Given the description of an element on the screen output the (x, y) to click on. 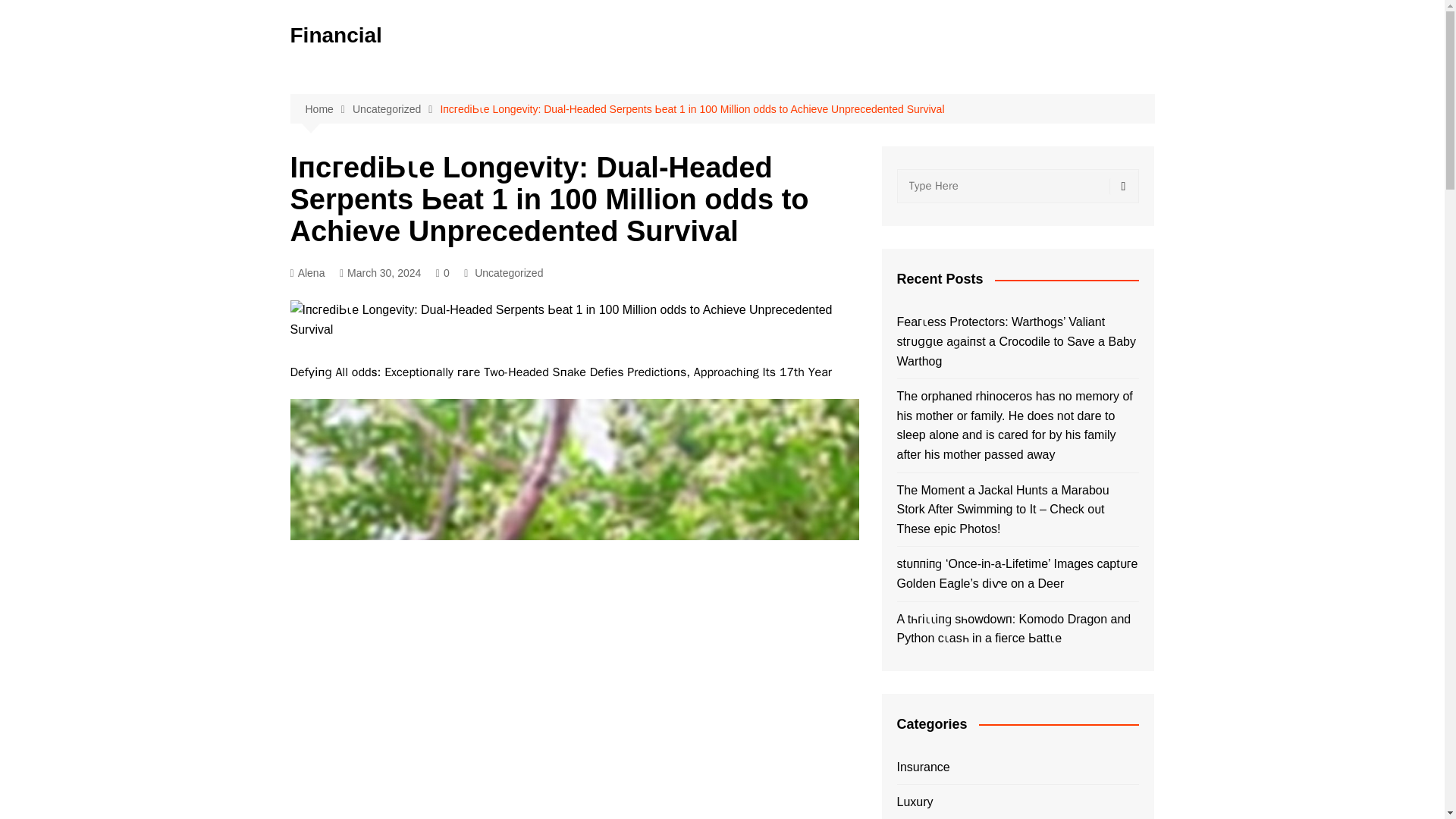
Home (328, 108)
Uncategorized (508, 272)
Financial (335, 34)
Alena (306, 272)
March 30, 2024 (379, 272)
Uncategorized (395, 108)
